Given the description of an element on the screen output the (x, y) to click on. 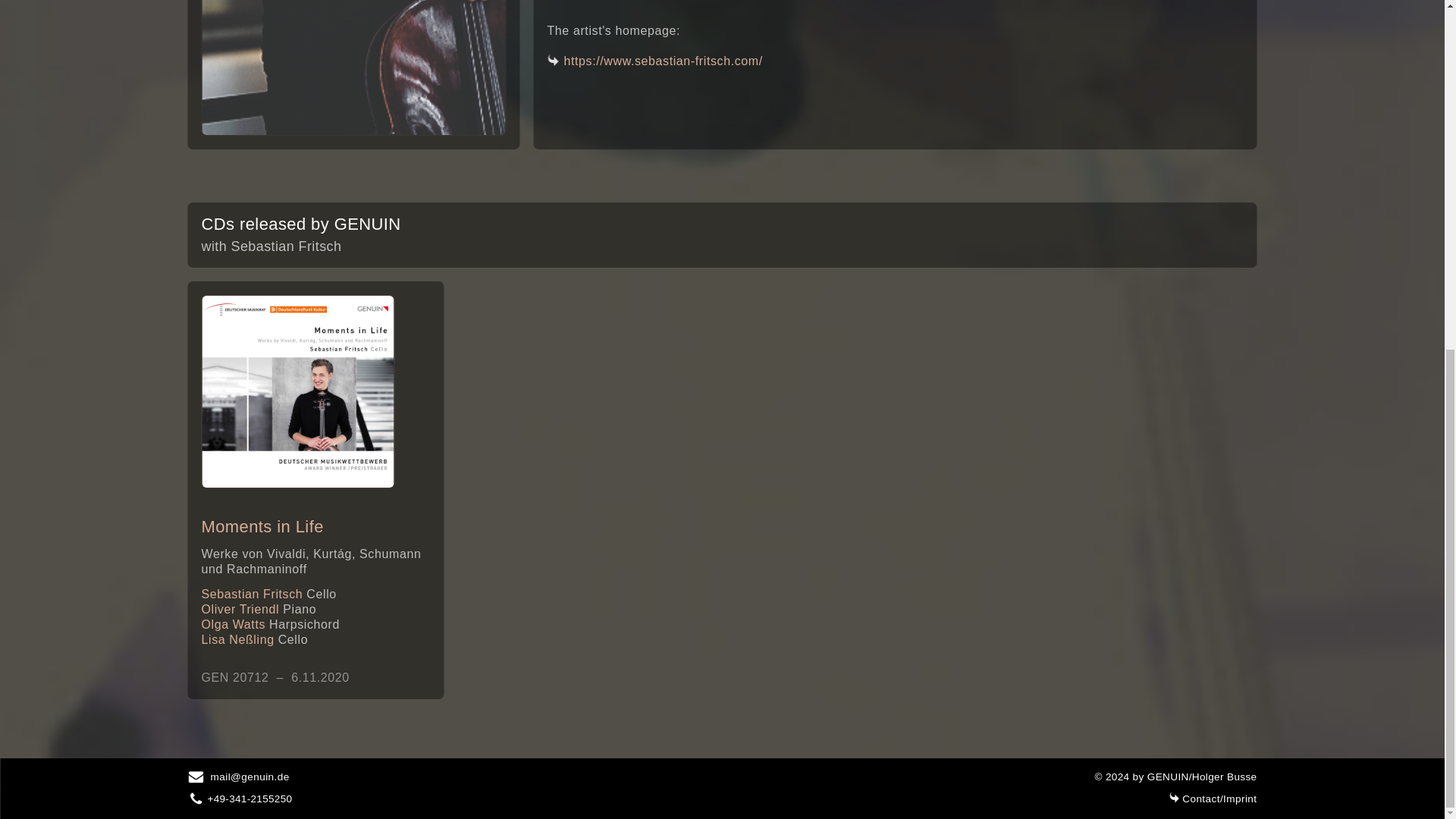
Moments in Life (298, 391)
Sebastian Fritsch (354, 67)
